Given the description of an element on the screen output the (x, y) to click on. 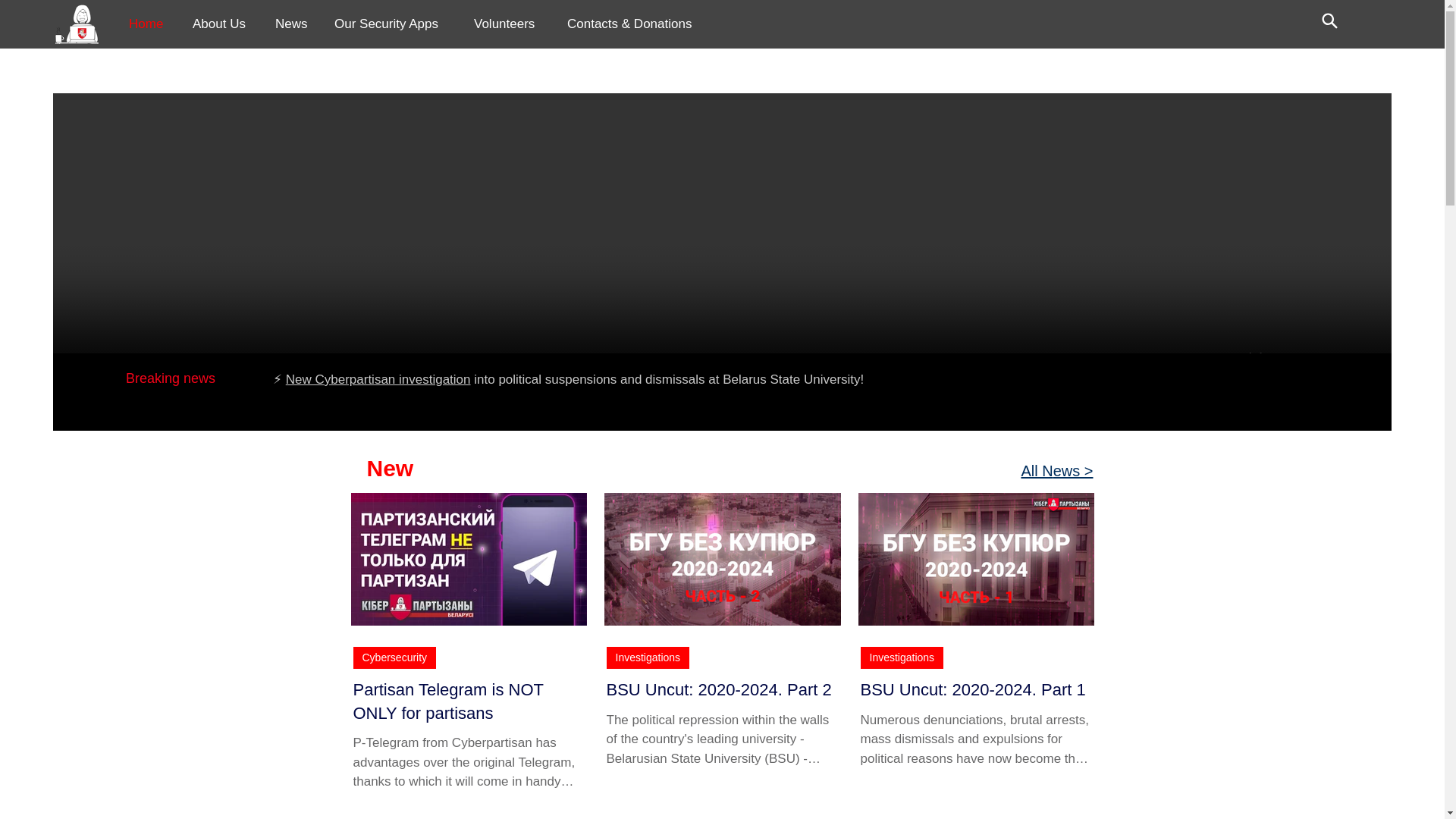
New Cyberpartisan investigation (377, 379)
Volunteers (507, 24)
BSU Uncut: 2020-2024. Part 1 (975, 689)
Investigations (648, 658)
Investigations (901, 658)
About Us (221, 24)
News (292, 24)
BSU Uncut: 2020-2024. Part 2 (722, 689)
Home (148, 24)
Our Security Apps (391, 24)
Cybersecurity (394, 658)
Partisan Telegram is NOT ONLY for partisans (469, 701)
